Given the description of an element on the screen output the (x, y) to click on. 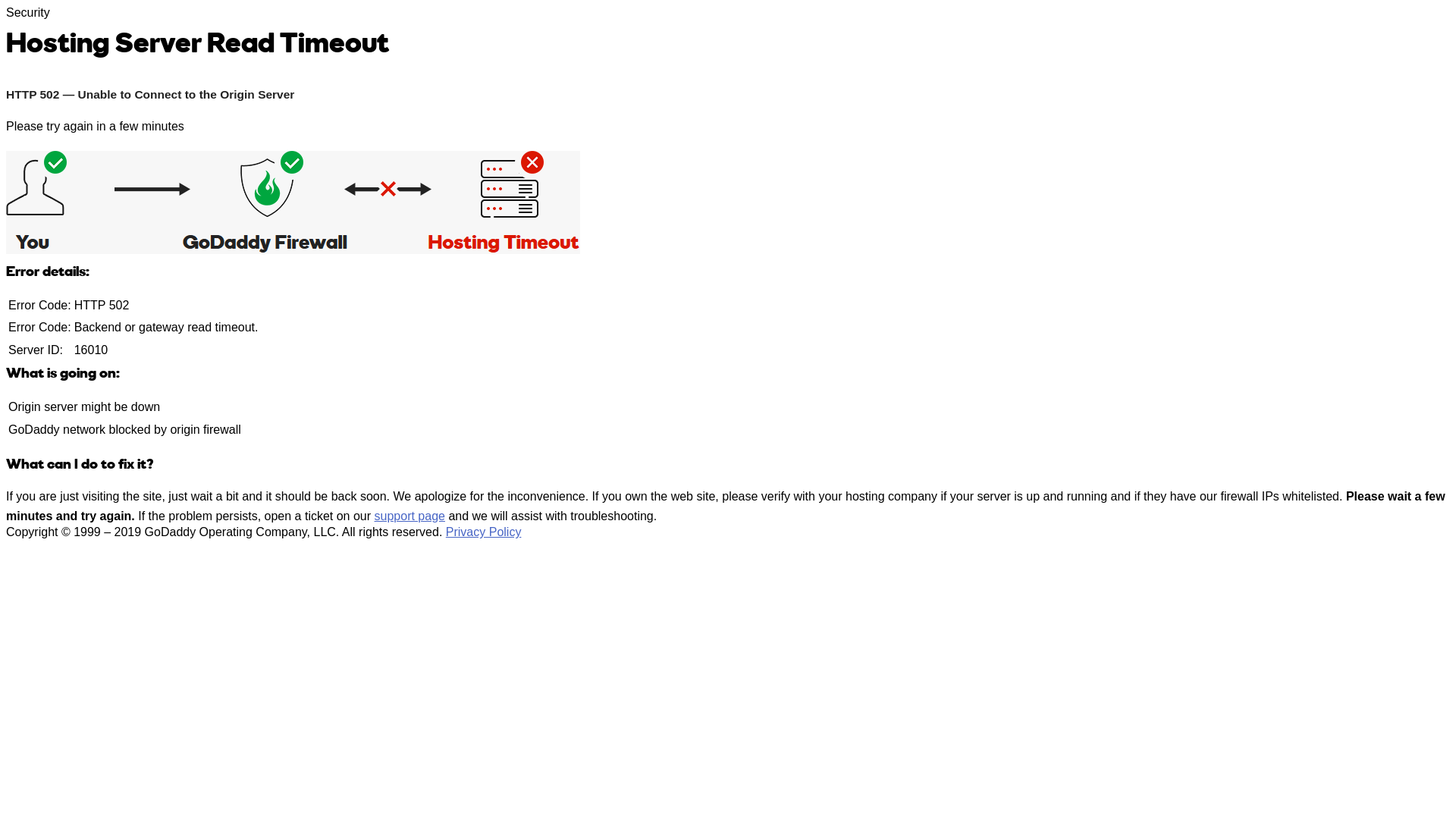
Privacy Policy Element type: text (483, 531)
support page Element type: text (409, 515)
